Given the description of an element on the screen output the (x, y) to click on. 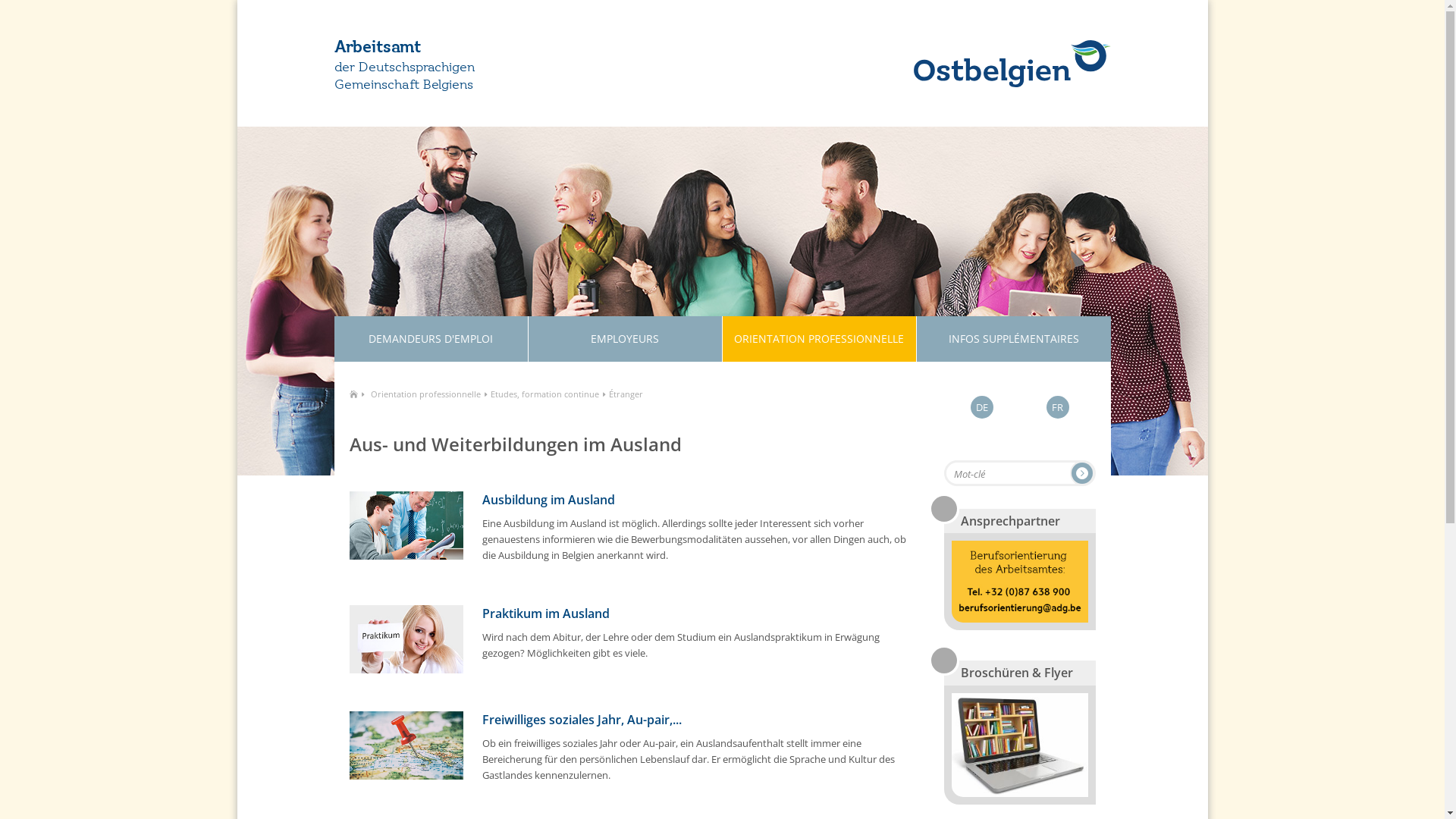
DE Element type: text (981, 406)
Orientation professionnelle Element type: text (425, 393)
Etudes, formation continue Element type: text (543, 393)
der Deutschsprachigen Gemeinschaft Belgiens Element type: text (409, 76)
FR Element type: text (1057, 406)
Arbeitsamt Element type: text (462, 48)
